Given the description of an element on the screen output the (x, y) to click on. 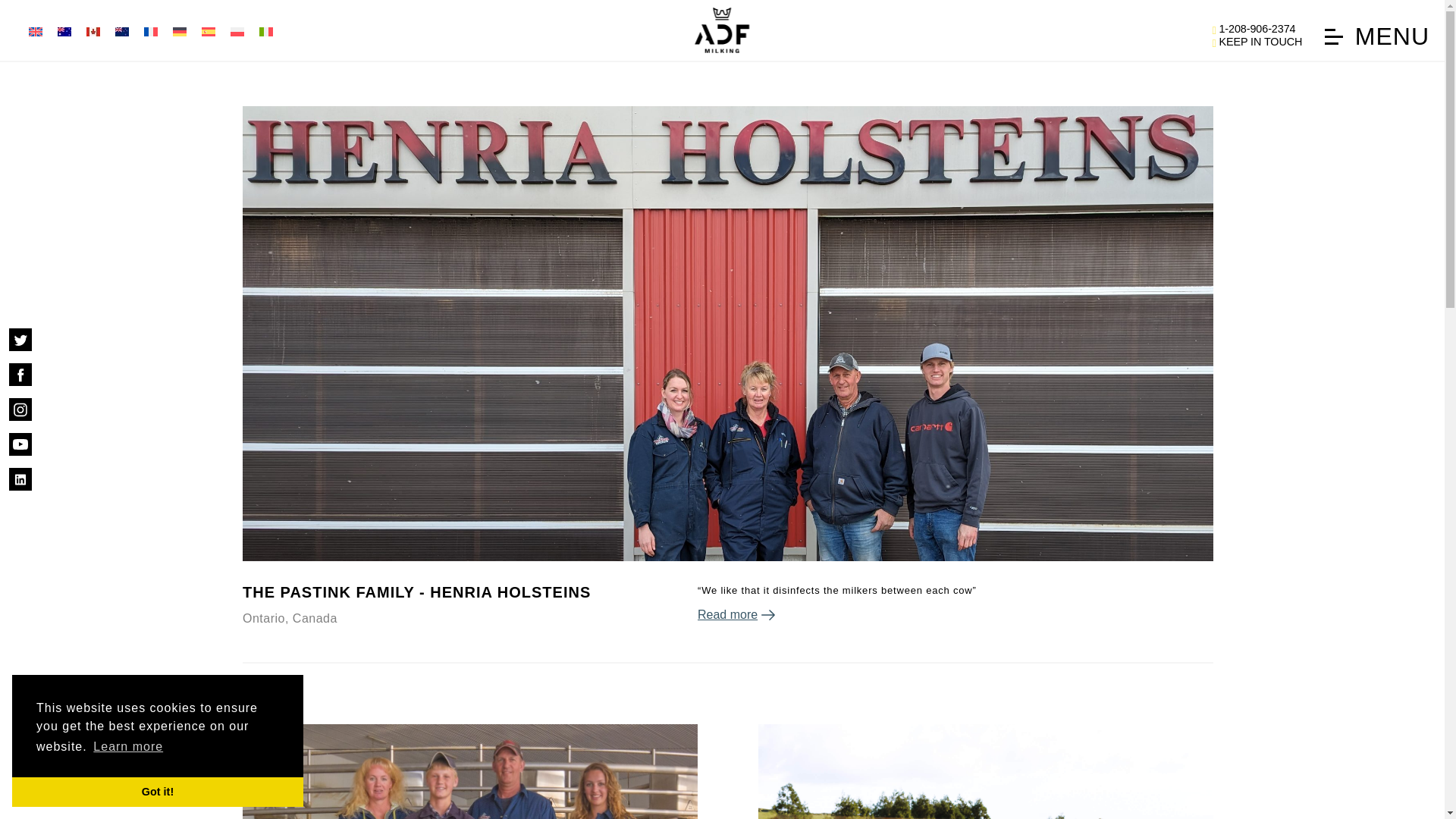
Learn more (127, 746)
1-208-906-2374 (1256, 28)
Read more (954, 614)
Got it! (156, 791)
